Given the description of an element on the screen output the (x, y) to click on. 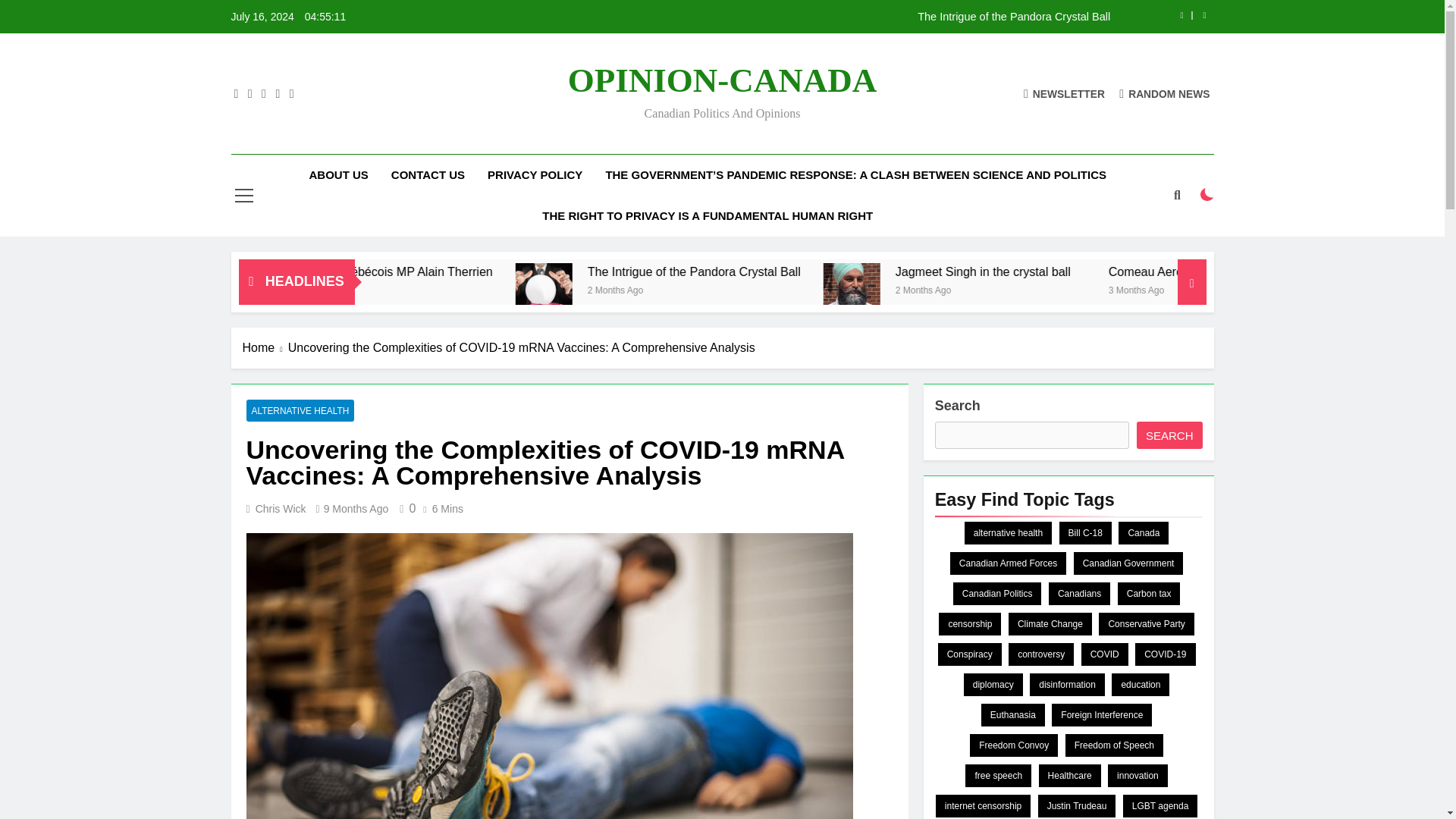
2 Months Ago (1128, 288)
on (1206, 194)
NEWSLETTER (1064, 92)
THE RIGHT TO PRIVACY IS A FUNDAMENTAL HUMAN RIGHT (707, 215)
The Intrigue of the Pandora Crystal Ball (726, 291)
ABOUT US (337, 174)
The Intrigue of the Pandora Crystal Ball (728, 291)
Jagmeet Singh in the crystal ball (1029, 291)
The Intrigue of the Pandora Crystal Ball (817, 16)
Jagmeet Singh in the crystal ball (1188, 271)
The Intrigue of the Pandora Crystal Ball (906, 271)
OPINION-CANADA (721, 80)
2 Months Ago (825, 288)
The Intrigue of the Pandora Crystal Ball (874, 271)
RANDOM NEWS (1164, 92)
